Given the description of an element on the screen output the (x, y) to click on. 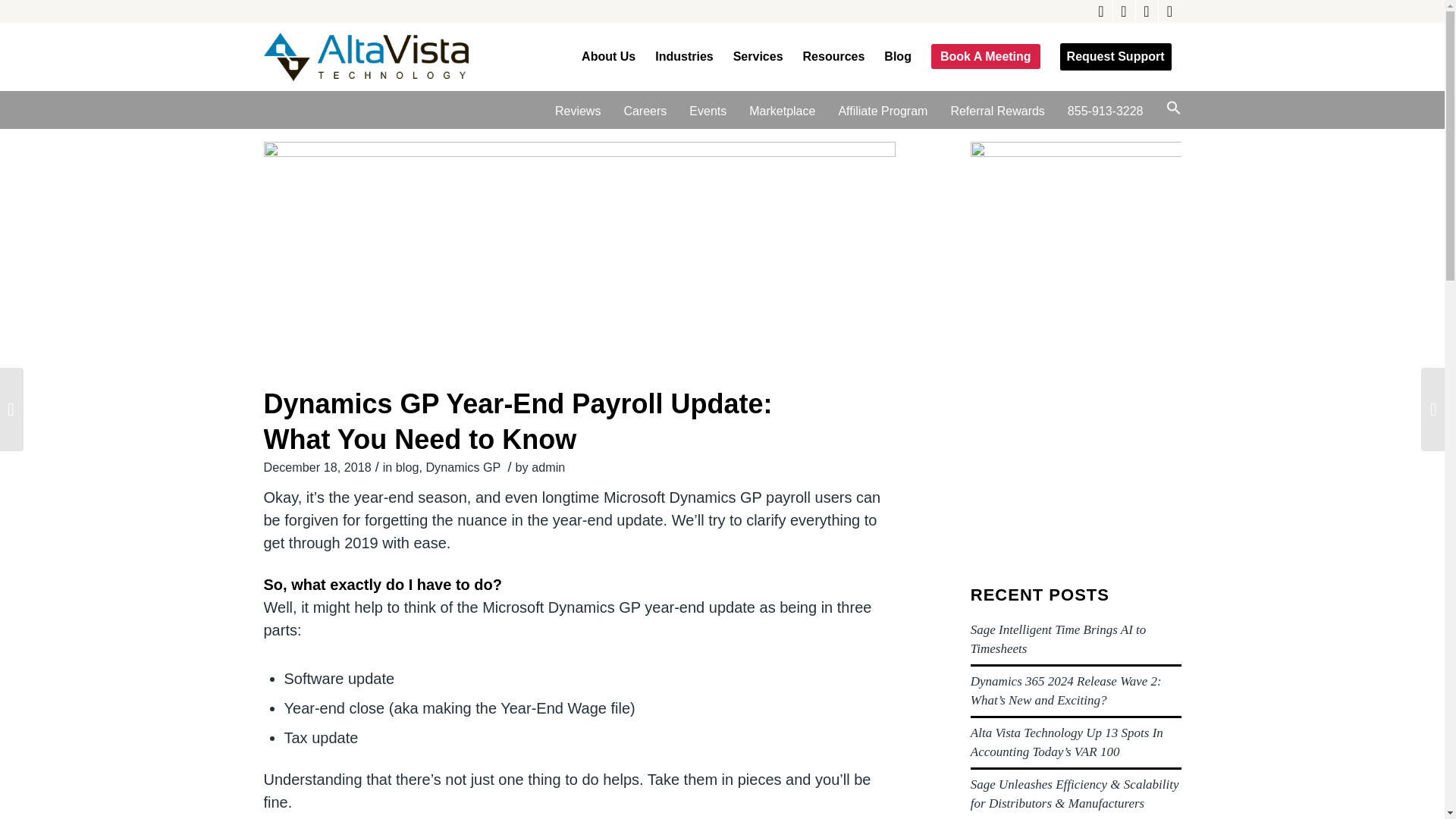
Facebook (1124, 11)
Industries (683, 56)
Reviews (576, 110)
Events (707, 110)
Posts by admin (547, 467)
Careers (644, 110)
Services (758, 56)
Youtube (1169, 11)
Book A Meeting (985, 56)
Resources (834, 56)
